Given the description of an element on the screen output the (x, y) to click on. 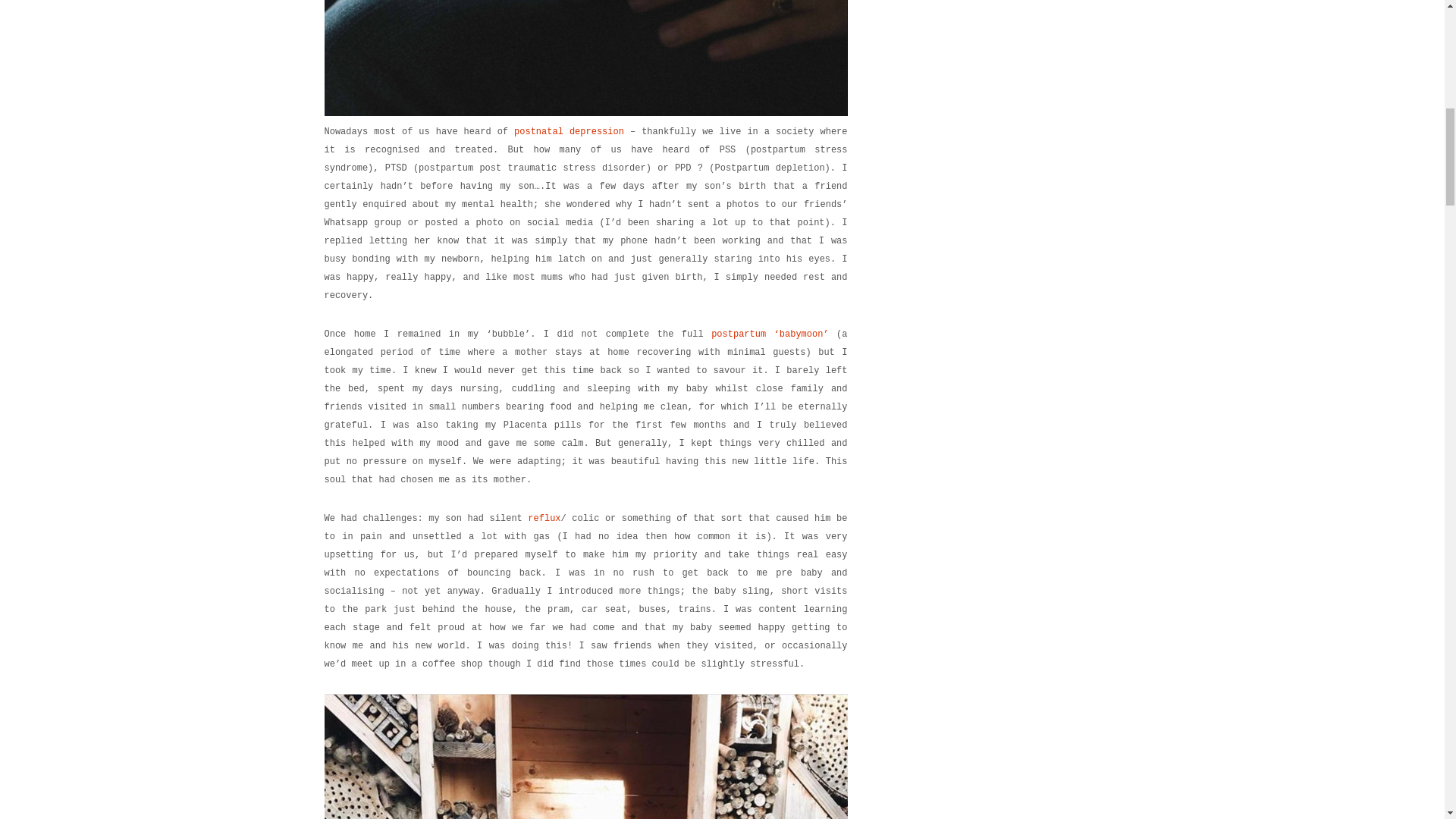
reflux (543, 518)
postnatal depression (568, 131)
